Given the description of an element on the screen output the (x, y) to click on. 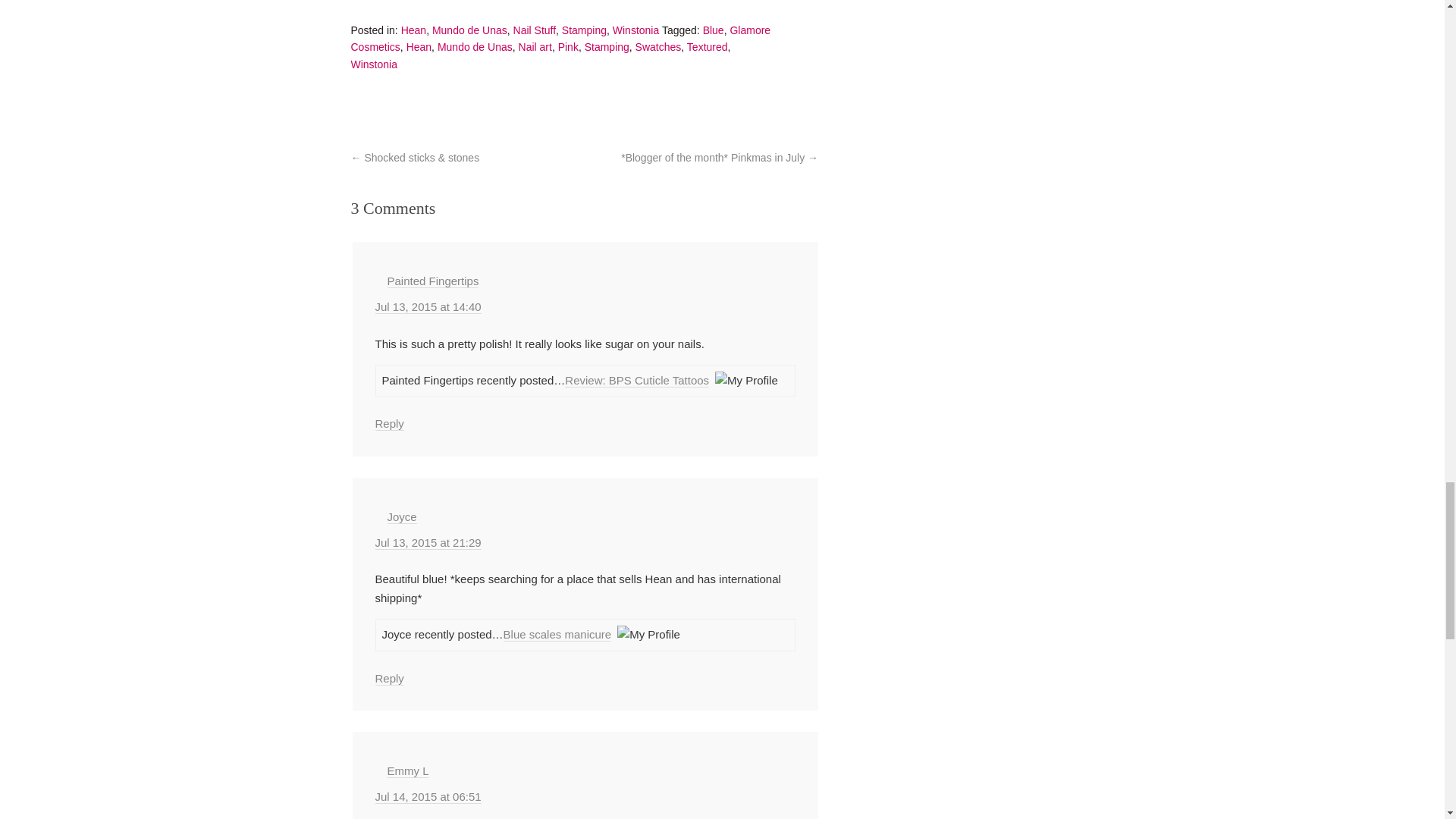
Mon, Jul 13, 2015, 2:40 pm (427, 306)
